Given the description of an element on the screen output the (x, y) to click on. 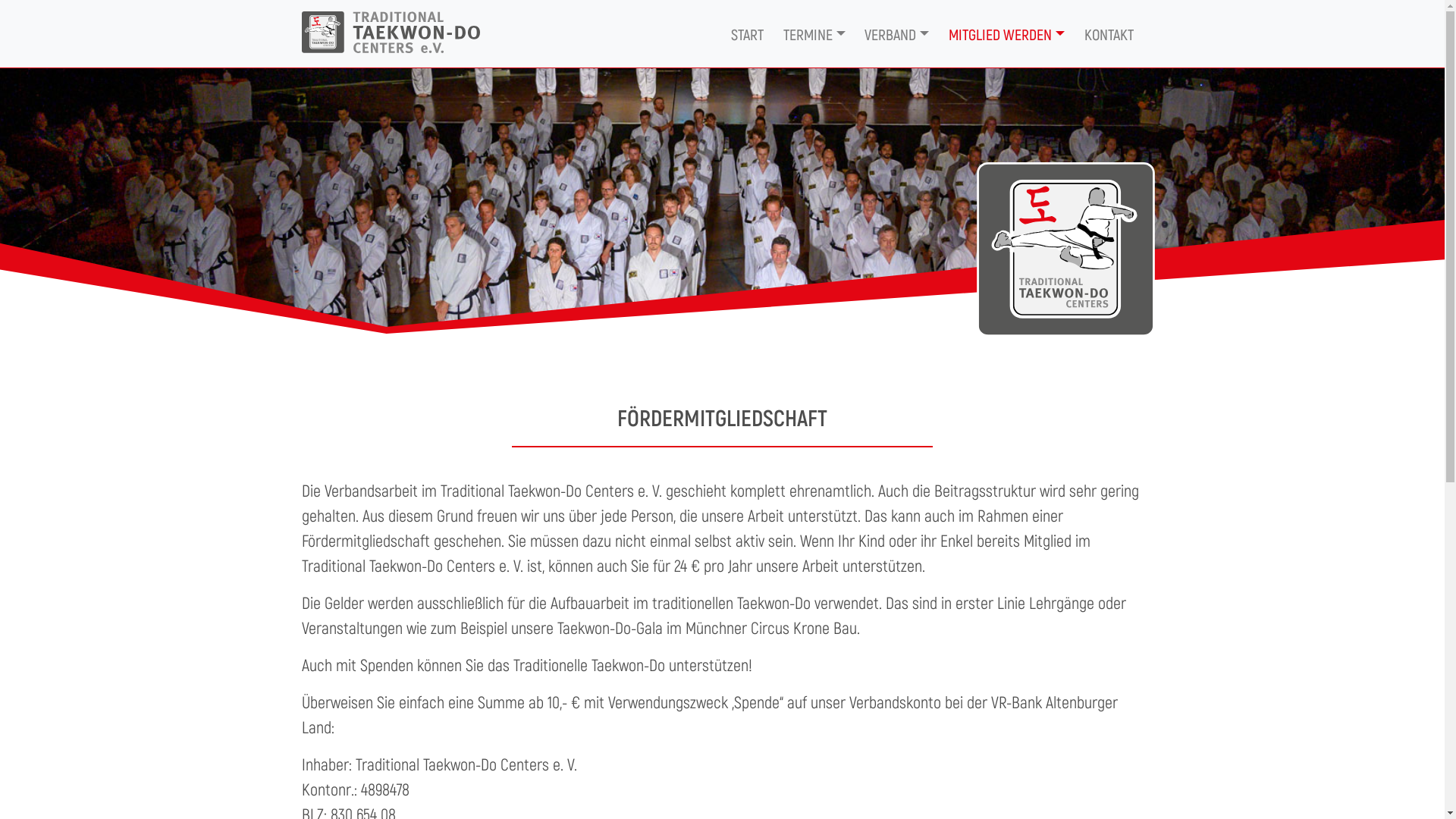
MITGLIED WERDEN Element type: text (1006, 33)
TERMINE Element type: text (814, 33)
VERBAND Element type: text (897, 33)
START Element type: text (747, 33)
KONTAKT Element type: text (1108, 33)
